Given the description of an element on the screen output the (x, y) to click on. 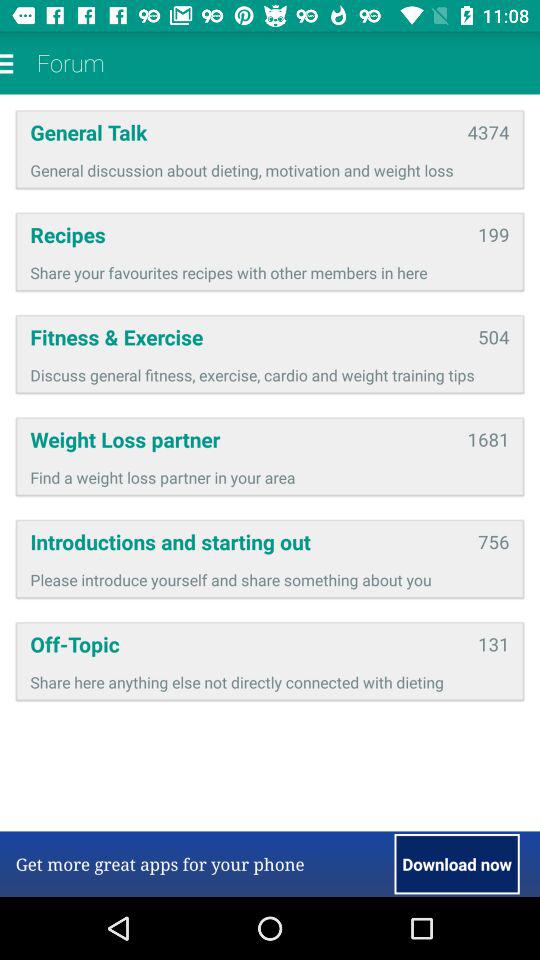
open the off-topic (247, 644)
